Given the description of an element on the screen output the (x, y) to click on. 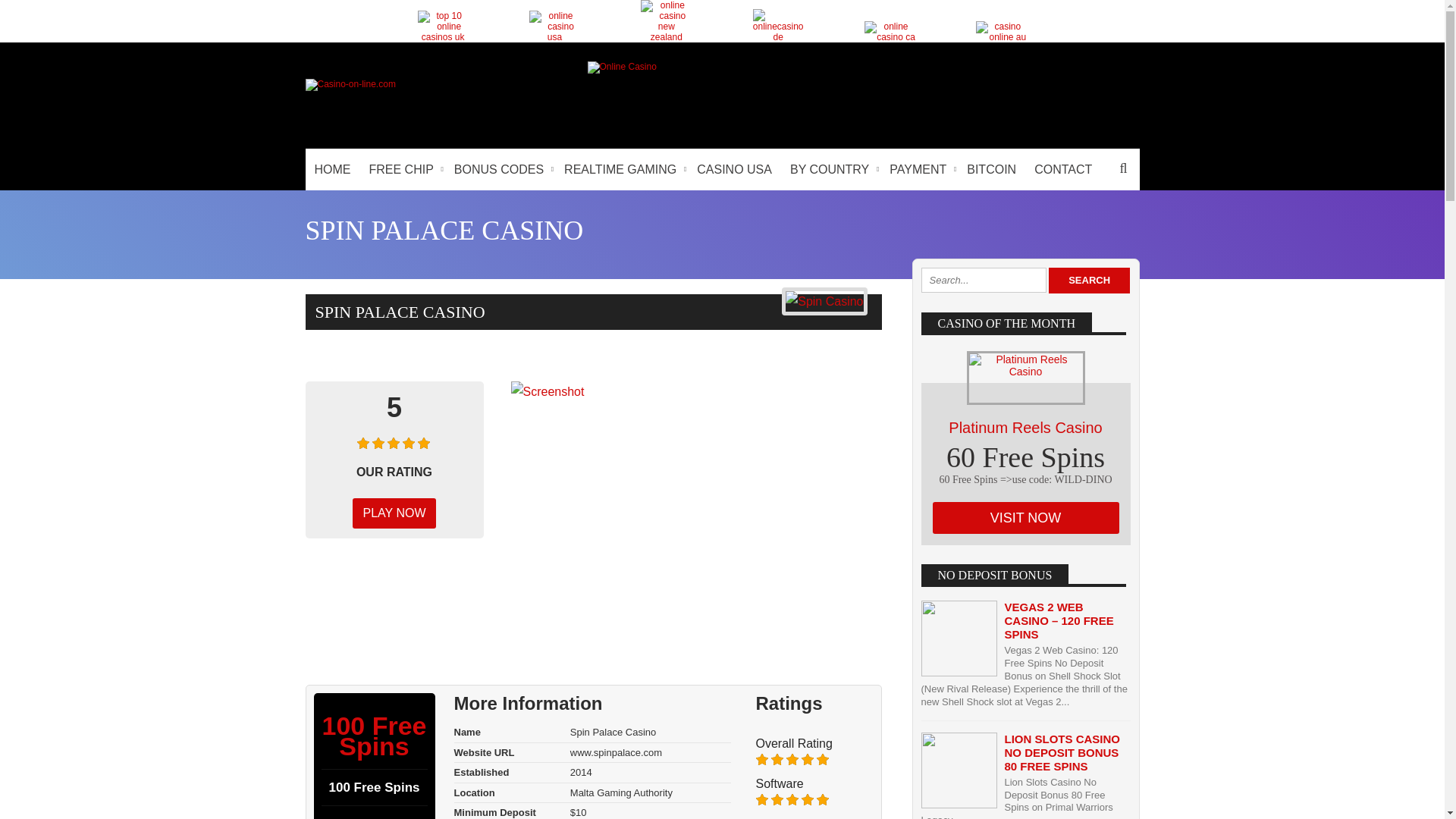
CA Casino (889, 31)
Casino-on-line.com (349, 83)
DE Casino (777, 25)
HOME (331, 169)
Search (1089, 280)
NZ Casinos (665, 21)
UK Casinos (442, 26)
AU Casinos (1000, 31)
Lion Slots Casino No Deposit Bonus 80 Free Spins (1061, 752)
FREE CHIP (401, 169)
Search (1089, 280)
Search (1122, 168)
US Casinos (554, 26)
